Given the description of an element on the screen output the (x, y) to click on. 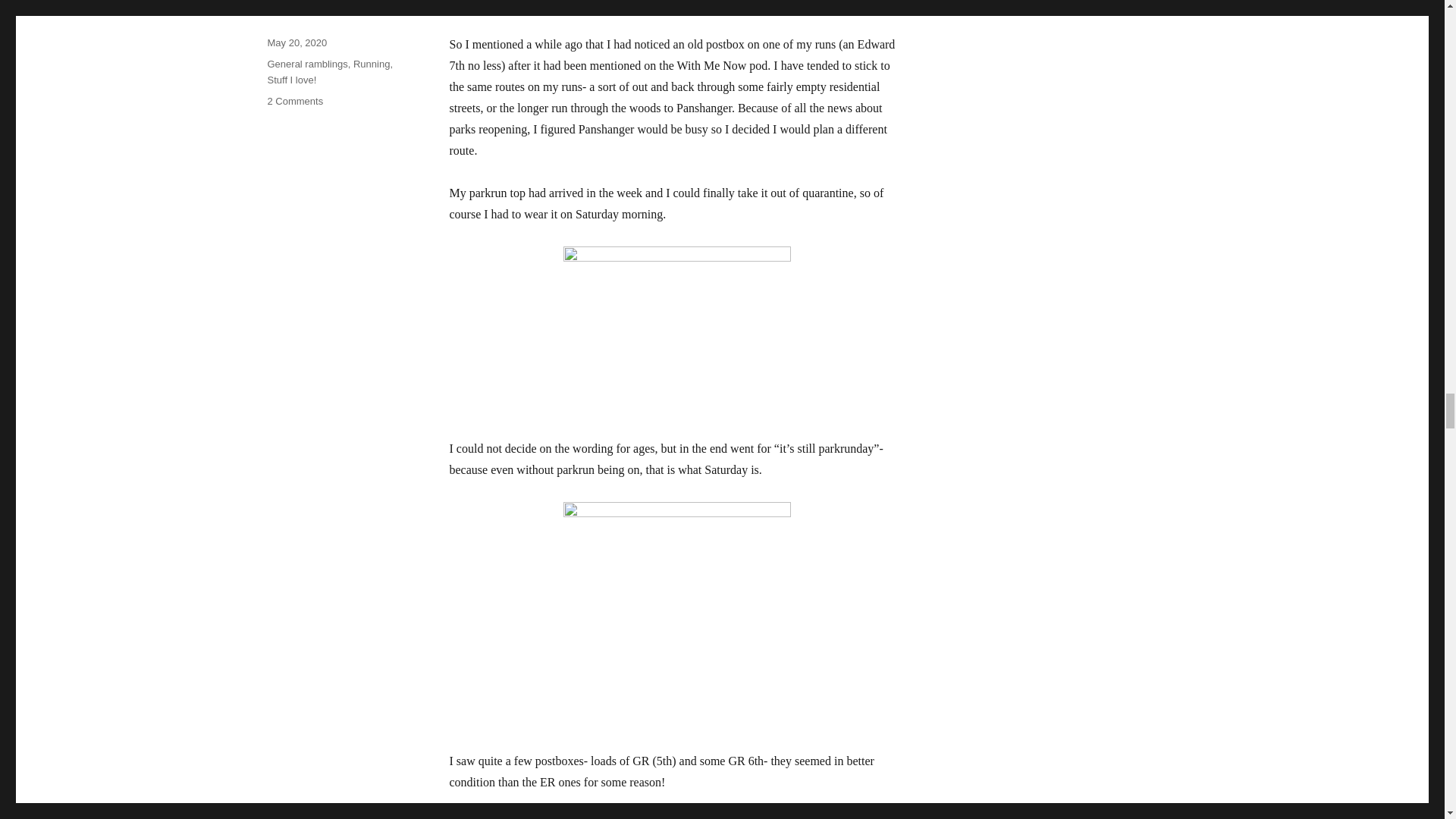
Running (371, 63)
May 20, 2020 (296, 42)
Stuff I love! (290, 79)
General ramblings (306, 63)
